Given the description of an element on the screen output the (x, y) to click on. 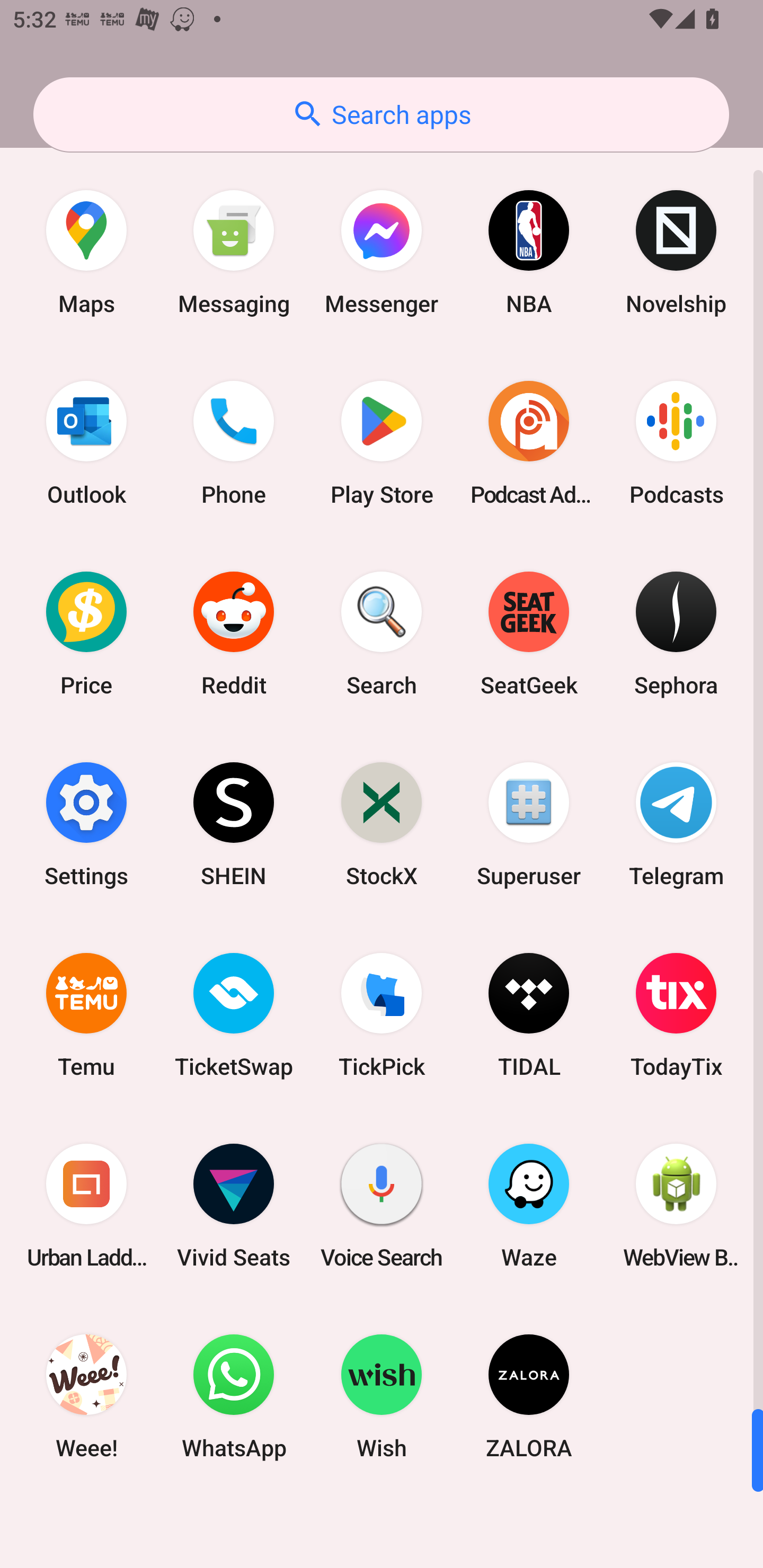
  Search apps (381, 114)
Maps (86, 252)
Messaging (233, 252)
Messenger (381, 252)
NBA (528, 252)
Novelship (676, 252)
Outlook (86, 442)
Phone (233, 442)
Play Store (381, 442)
Podcast Addict (528, 442)
Podcasts (676, 442)
Price (86, 633)
Reddit (233, 633)
Search (381, 633)
SeatGeek (528, 633)
Sephora (676, 633)
Settings (86, 823)
SHEIN (233, 823)
StockX (381, 823)
Superuser (528, 823)
Telegram (676, 823)
Temu (86, 1014)
TicketSwap (233, 1014)
TickPick (381, 1014)
TIDAL (528, 1014)
TodayTix (676, 1014)
Urban Ladder (86, 1205)
Vivid Seats (233, 1205)
Voice Search (381, 1205)
Waze (528, 1205)
WebView Browser Tester (676, 1205)
Weee! (86, 1396)
WhatsApp (233, 1396)
Wish (381, 1396)
ZALORA (528, 1396)
